Given the description of an element on the screen output the (x, y) to click on. 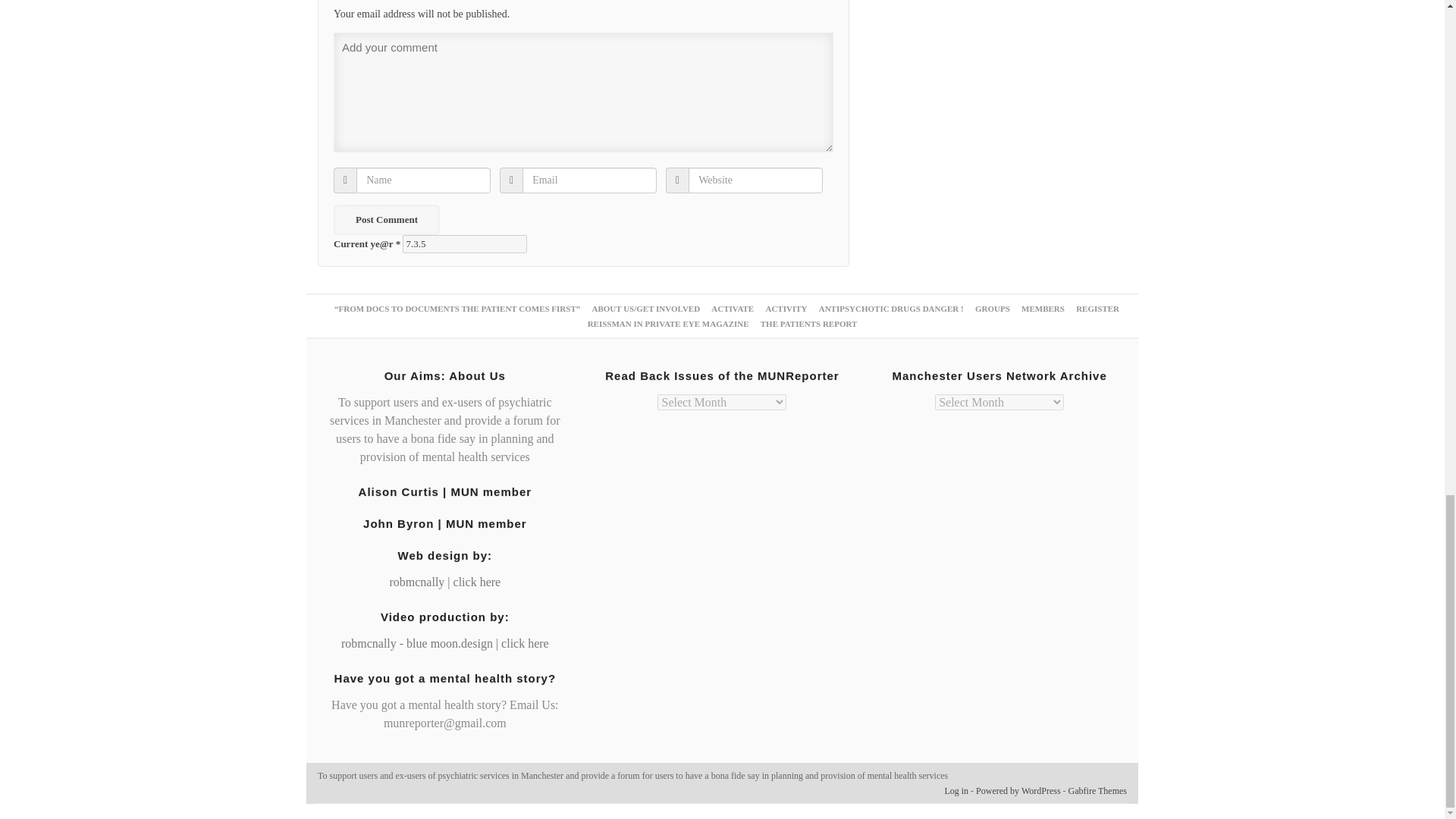
7.3.5 (465, 244)
Post Comment (386, 219)
